Given the description of an element on the screen output the (x, y) to click on. 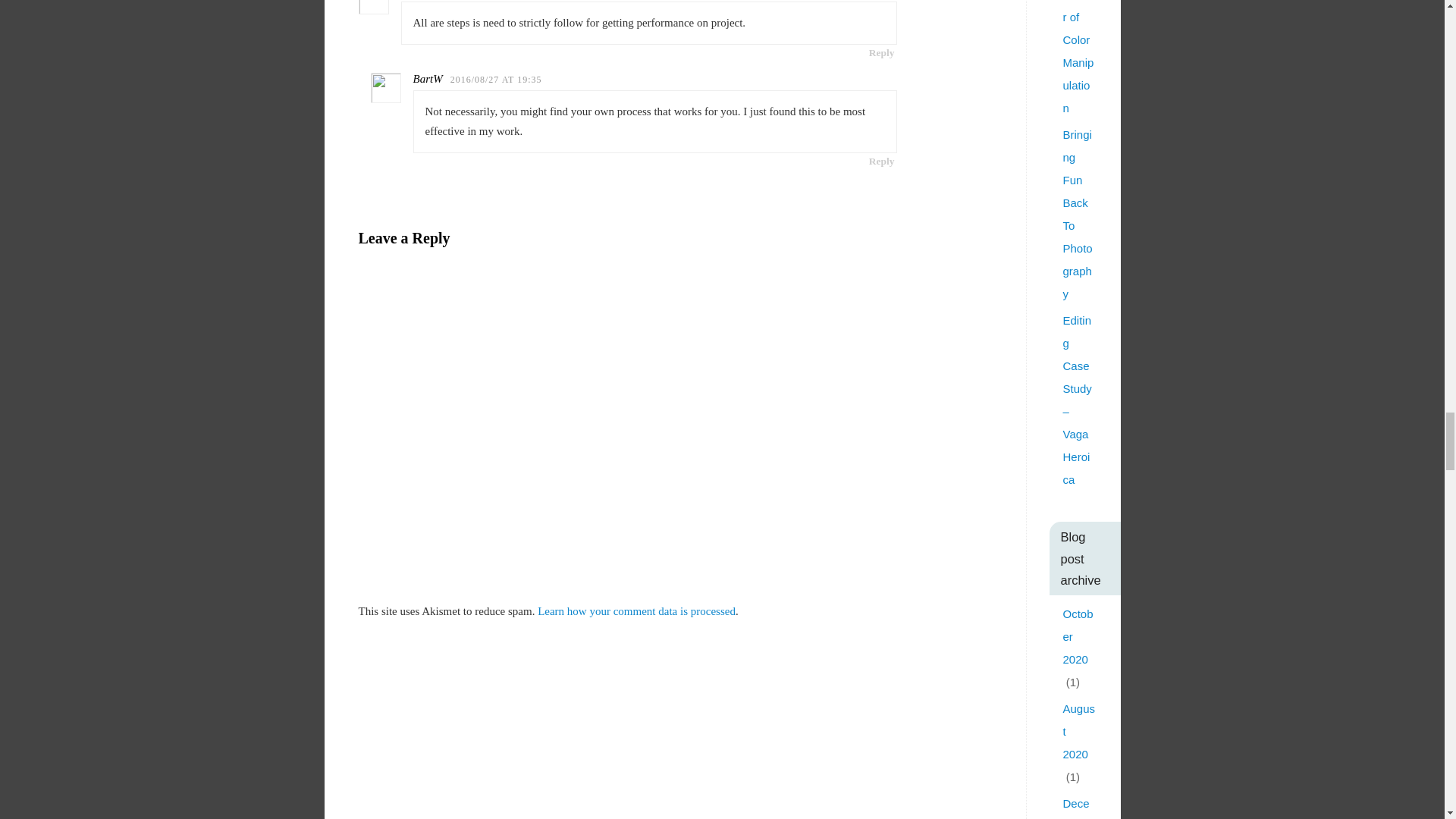
Reply (881, 161)
Learn how your comment data is processed (636, 611)
Reply (881, 52)
